Given the description of an element on the screen output the (x, y) to click on. 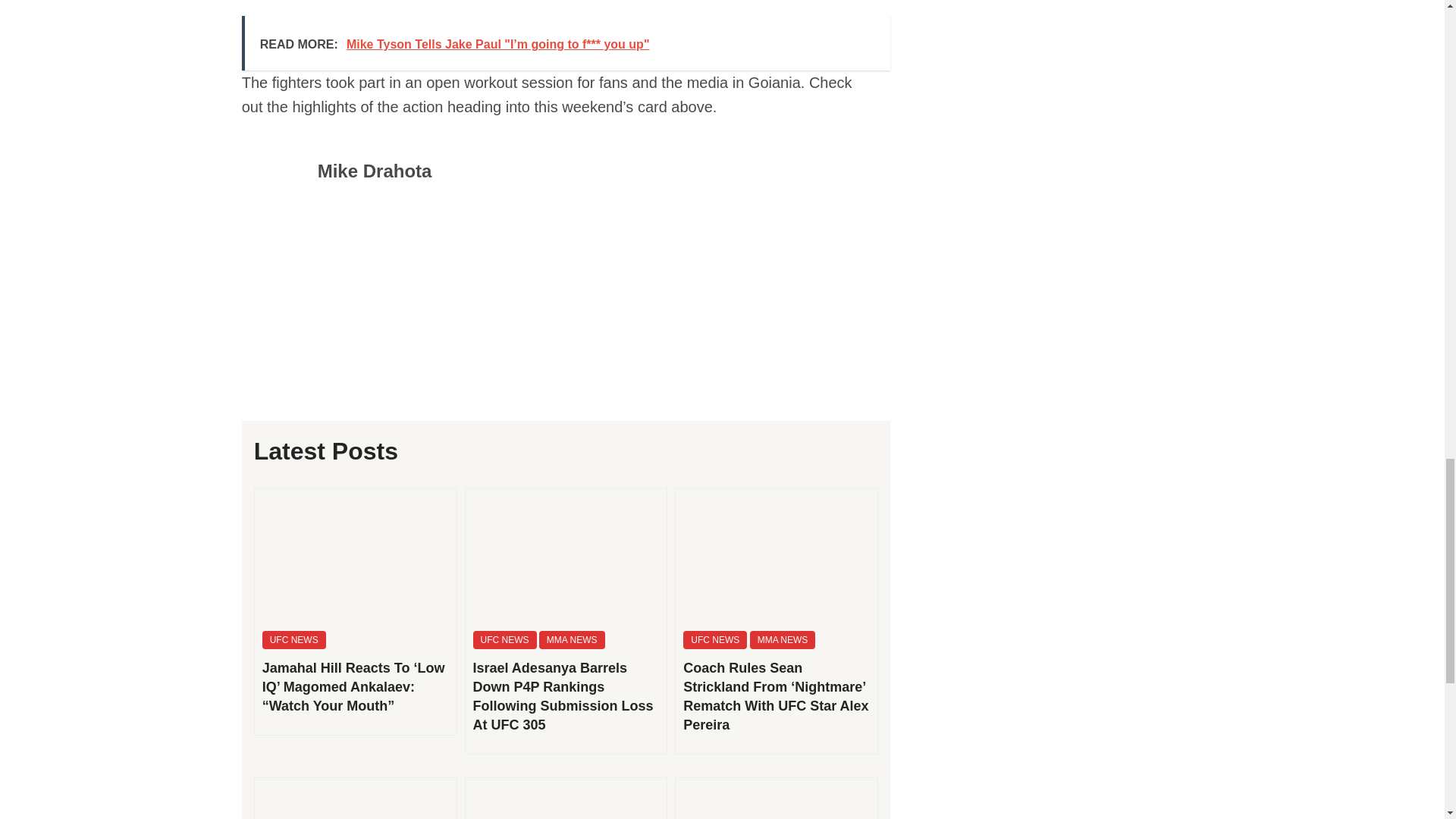
Posts by Mike Drahota (374, 170)
Brendan Schaub Responds to Slam from Dricus Du Plessis 6 (565, 798)
